Given the description of an element on the screen output the (x, y) to click on. 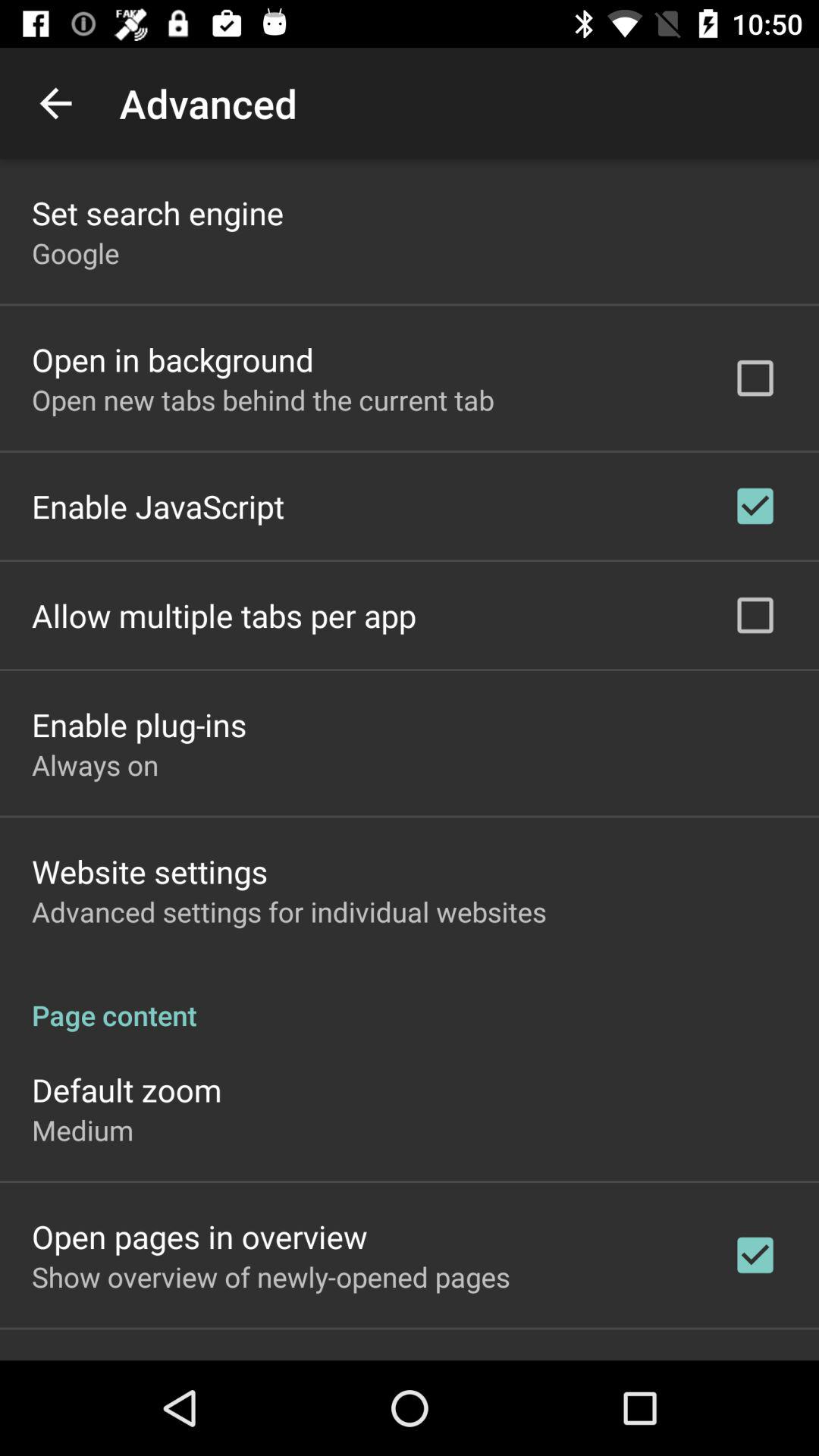
launch the app below the open pages in (270, 1276)
